Given the description of an element on the screen output the (x, y) to click on. 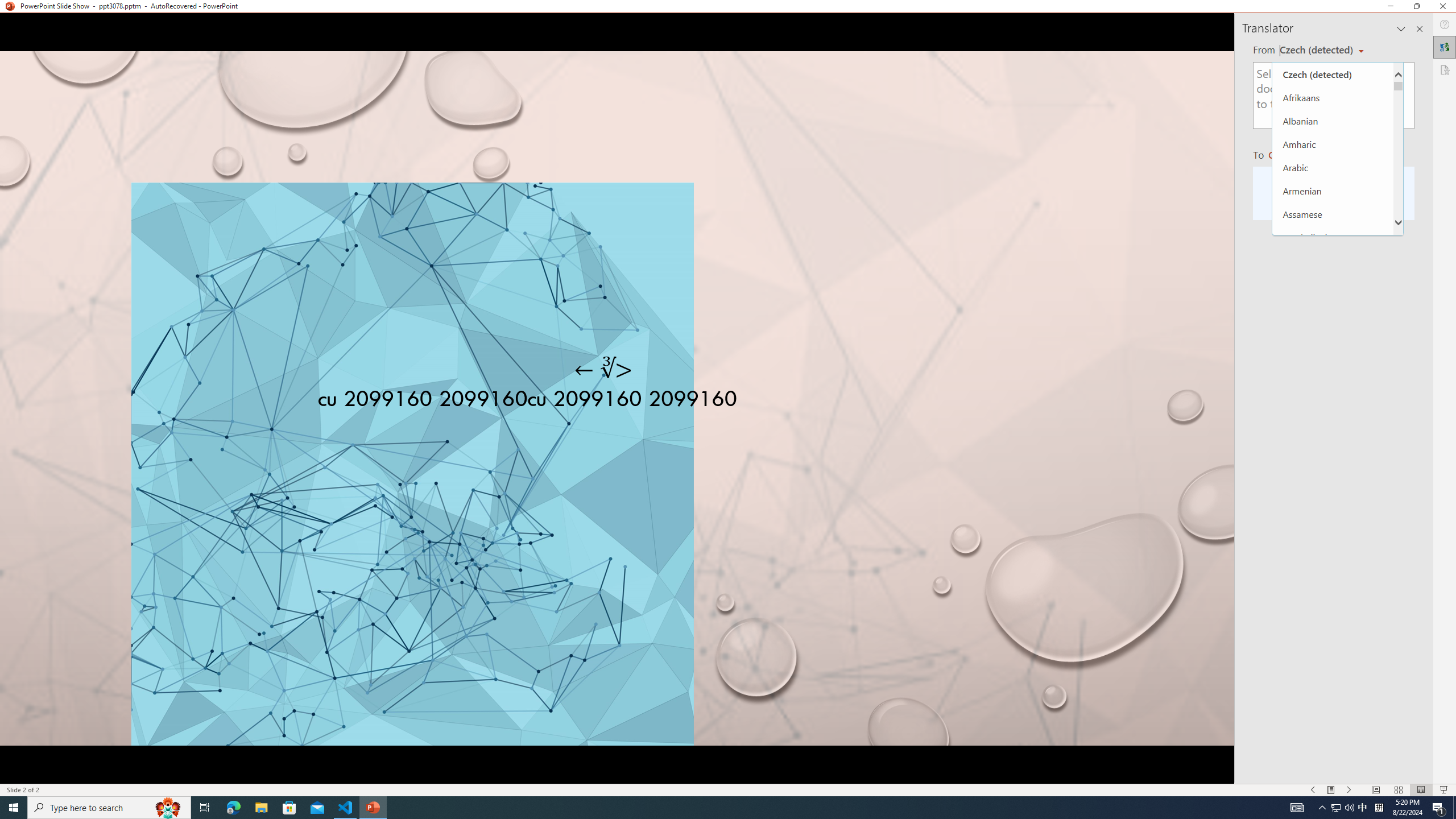
Copilot (Ctrl+Shift+.) (1434, 46)
Wikipedia, the free encyclopedia (247, 78)
